Given the description of an element on the screen output the (x, y) to click on. 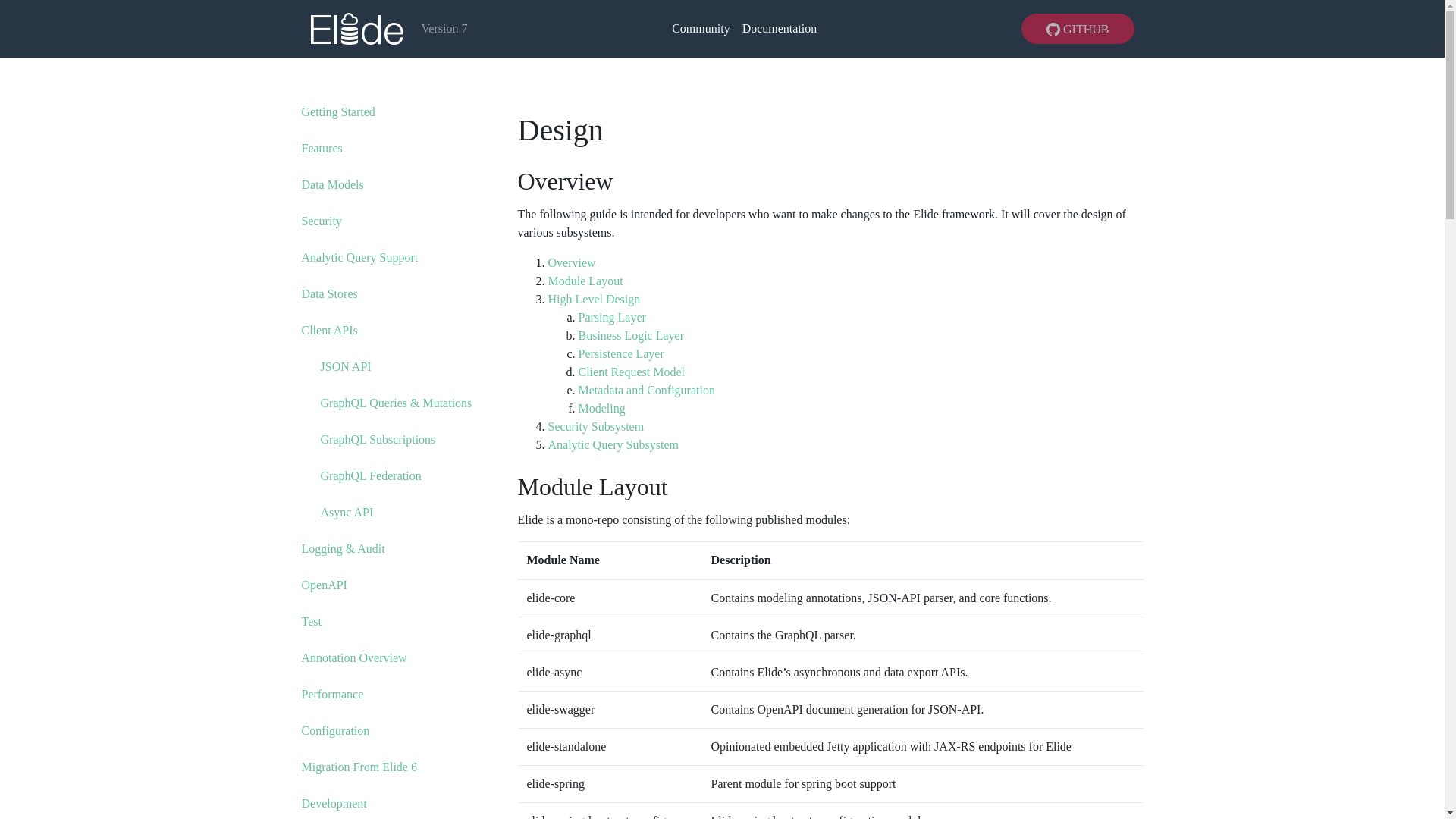
Getting Started (338, 111)
GITHUB (1078, 27)
Async API (346, 512)
Community (700, 28)
GraphQL Subscriptions (377, 439)
Security (321, 220)
Analytic Query Support (360, 256)
GraphQL Federation (370, 475)
GITHUB (1078, 28)
Client APIs (329, 329)
Features (321, 147)
Data Models (332, 184)
Documentation (780, 28)
JSON API (345, 366)
Data Stores (329, 293)
